Given the description of an element on the screen output the (x, y) to click on. 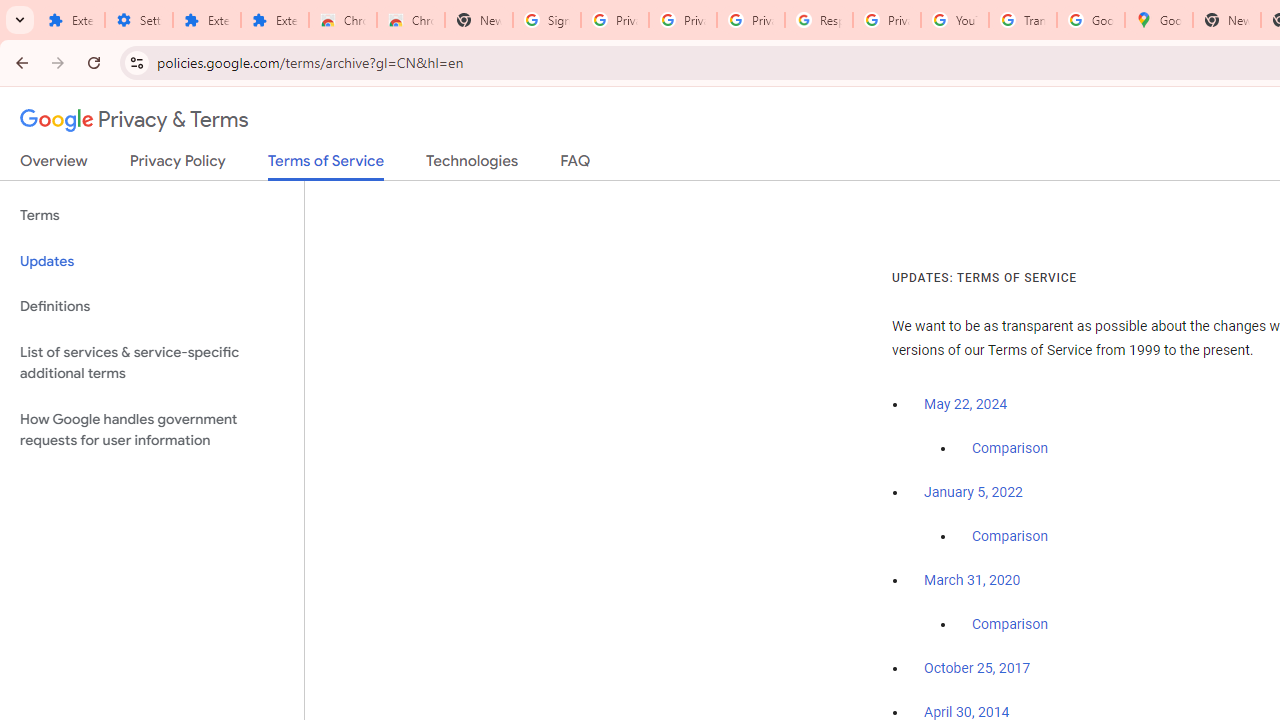
Chrome Web Store - Themes (411, 20)
October 25, 2017 (977, 669)
YouTube (954, 20)
New Tab (1226, 20)
Google Maps (1158, 20)
Sign in - Google Accounts (547, 20)
Settings (138, 20)
May 22, 2024 (966, 404)
Comparison (1009, 625)
